Given the description of an element on the screen output the (x, y) to click on. 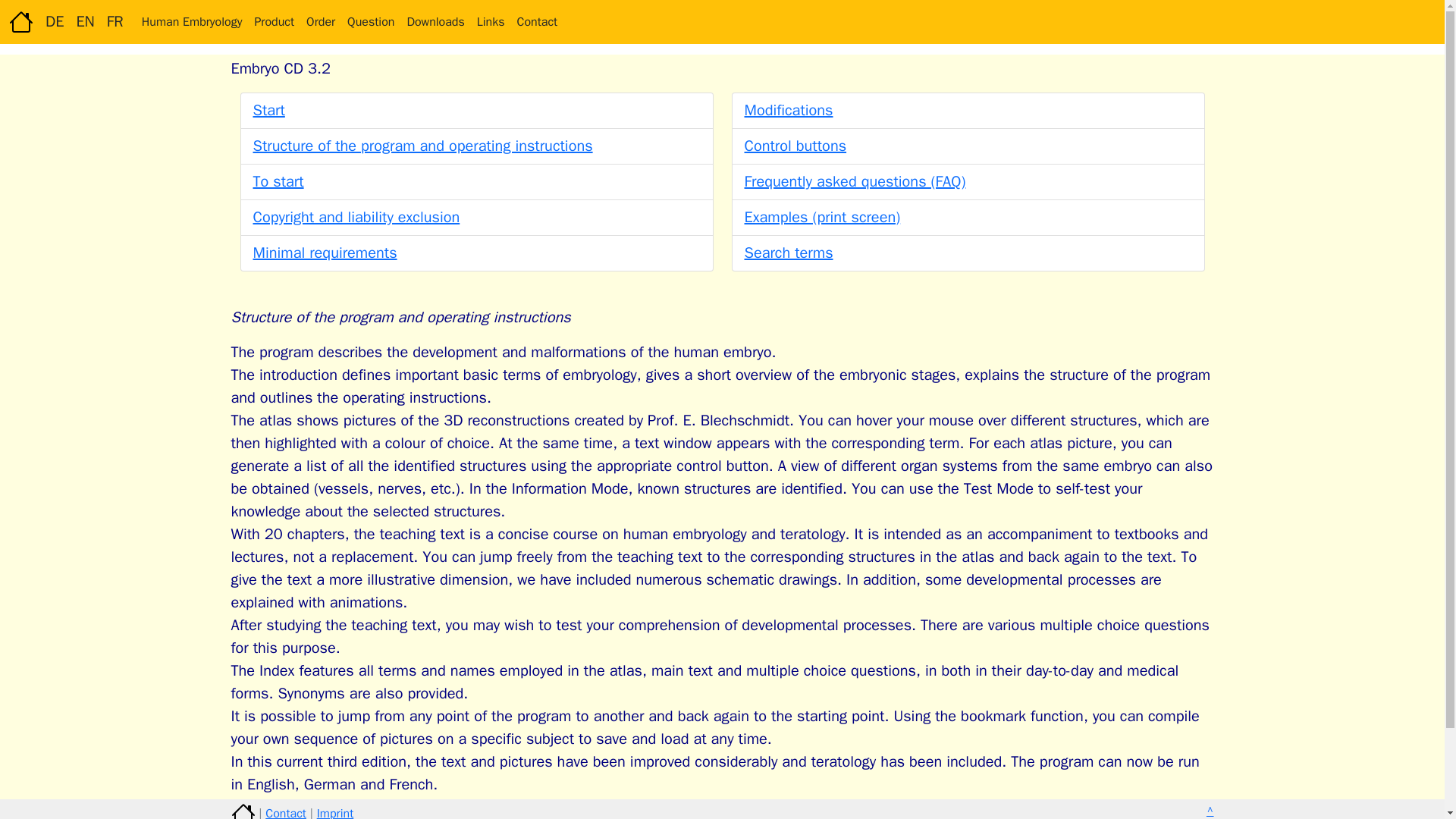
Modifications (788, 109)
Search terms (788, 252)
Downloads (435, 21)
Contact (284, 812)
Minimal requirements (325, 252)
To start (278, 180)
Structure of the program and operating instructions (422, 145)
Product (273, 21)
Human Embryology (191, 21)
Copyright and liability exclusion (356, 217)
Links (490, 21)
Contact (537, 21)
Question (370, 21)
Human Embryology and Teratology - A concise course (191, 21)
Program Embryo CD (273, 21)
